Given the description of an element on the screen output the (x, y) to click on. 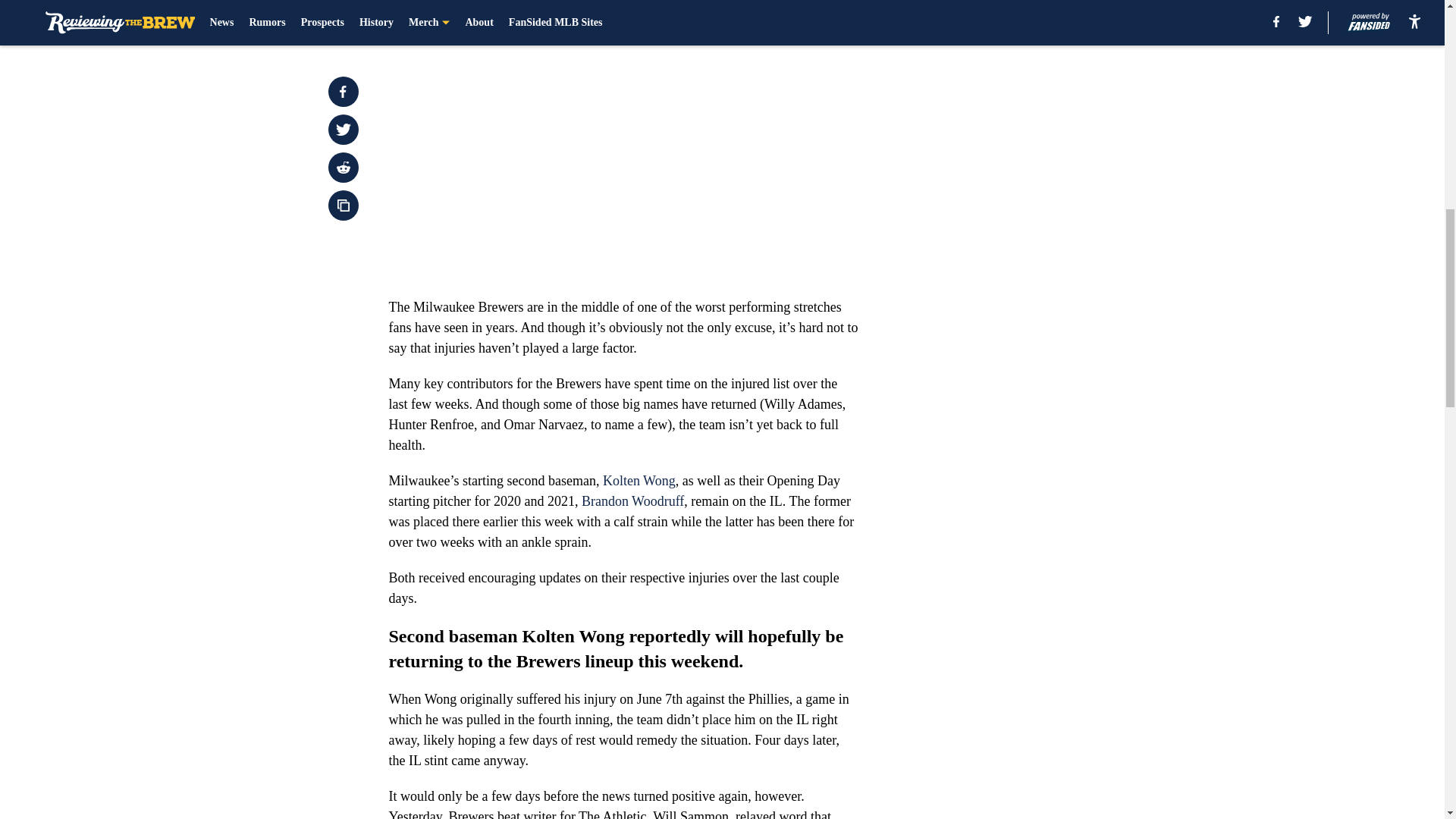
Kolten Wong (638, 480)
Brandon Woodruff (632, 500)
